Given the description of an element on the screen output the (x, y) to click on. 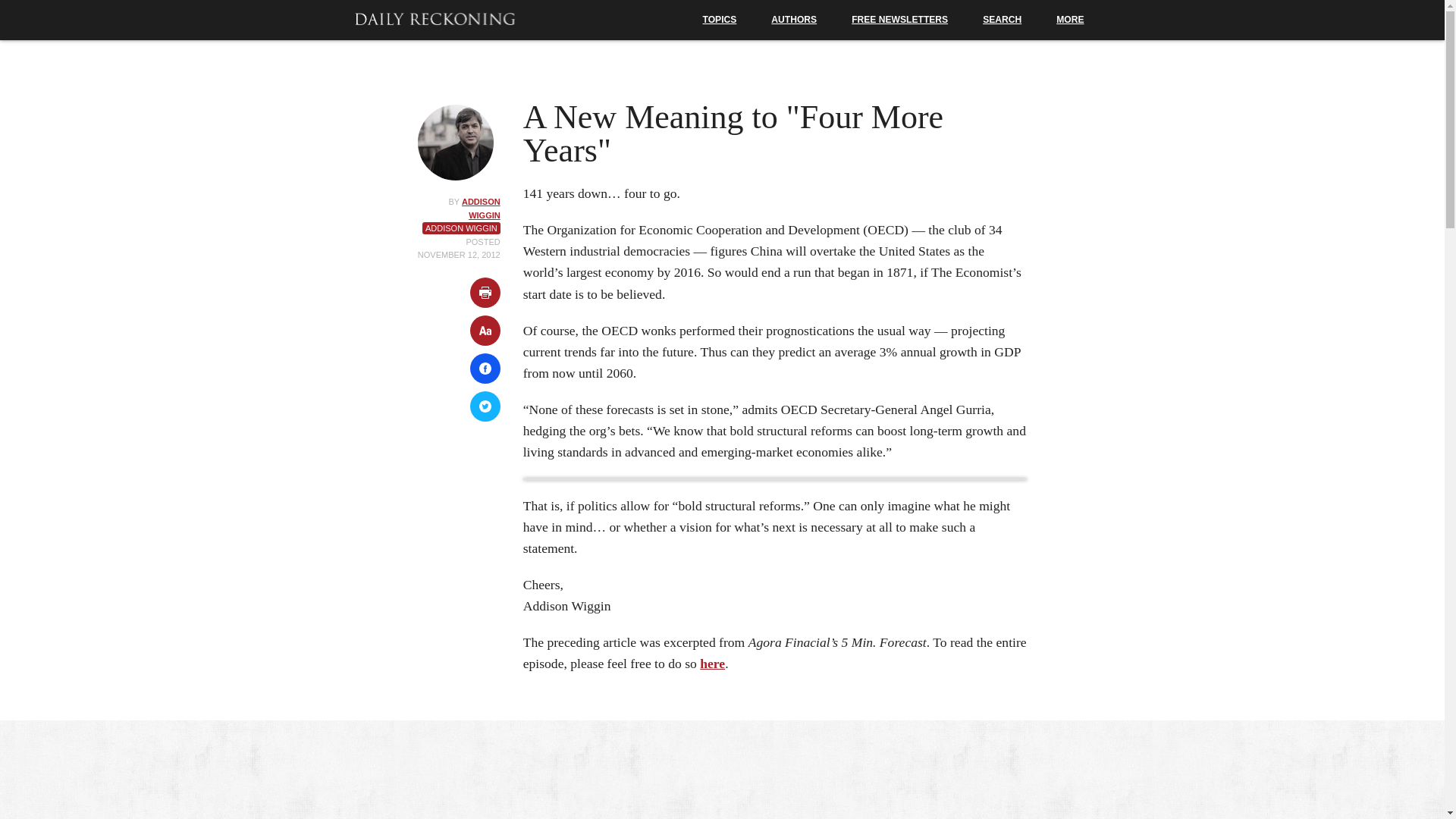
here (712, 663)
ADDISON WIGGIN (480, 208)
TOPICS (719, 20)
